Given the description of an element on the screen output the (x, y) to click on. 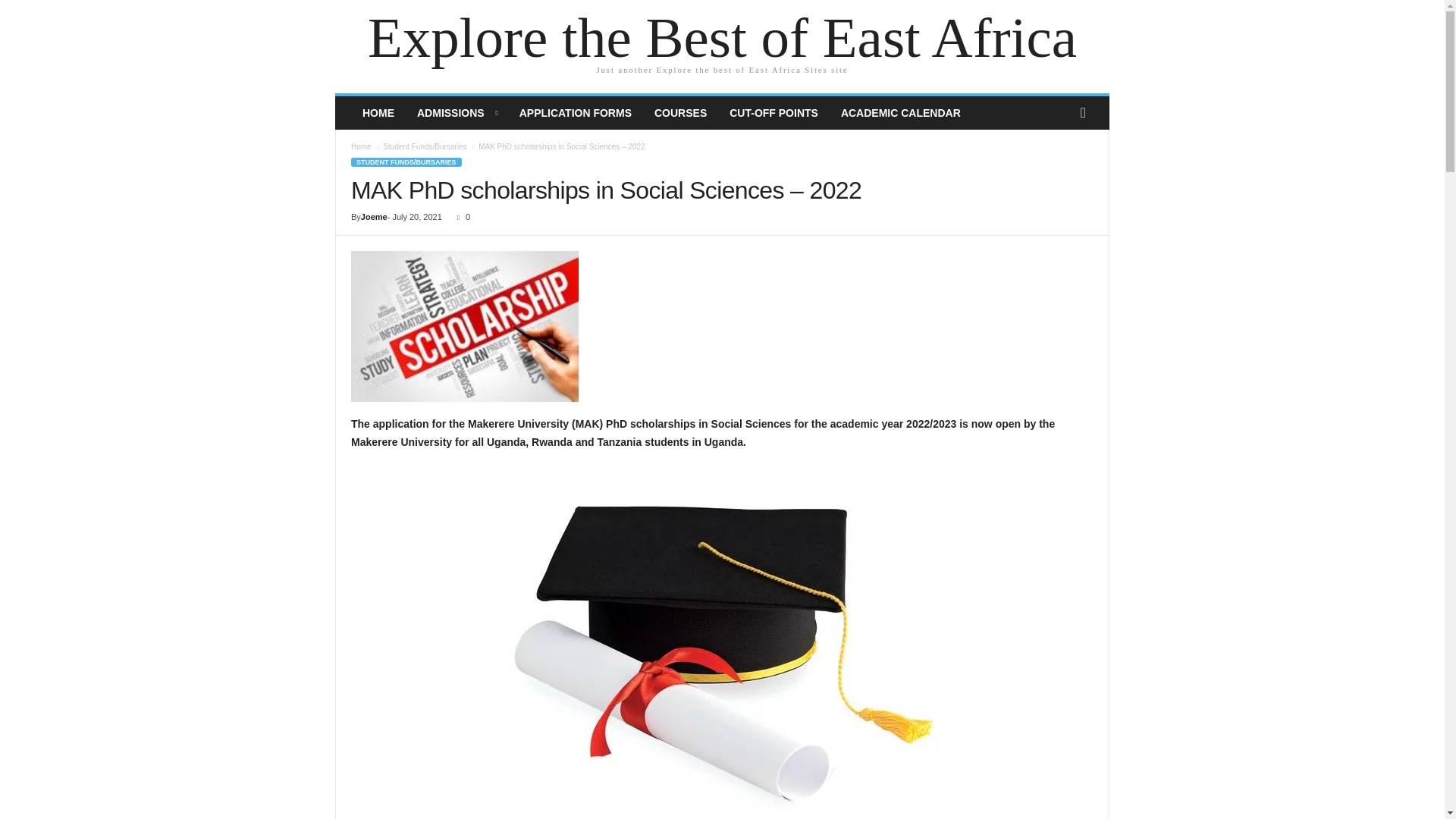
Joeme (374, 216)
Home (360, 146)
ADMISSIONS (457, 112)
COURSES (680, 112)
Explore the Best of East Africa (721, 38)
HOME (378, 112)
CUT-OFF POINTS (773, 112)
APPLICATION FORMS (575, 112)
0 (460, 216)
ACADEMIC CALENDAR (900, 112)
